Given the description of an element on the screen output the (x, y) to click on. 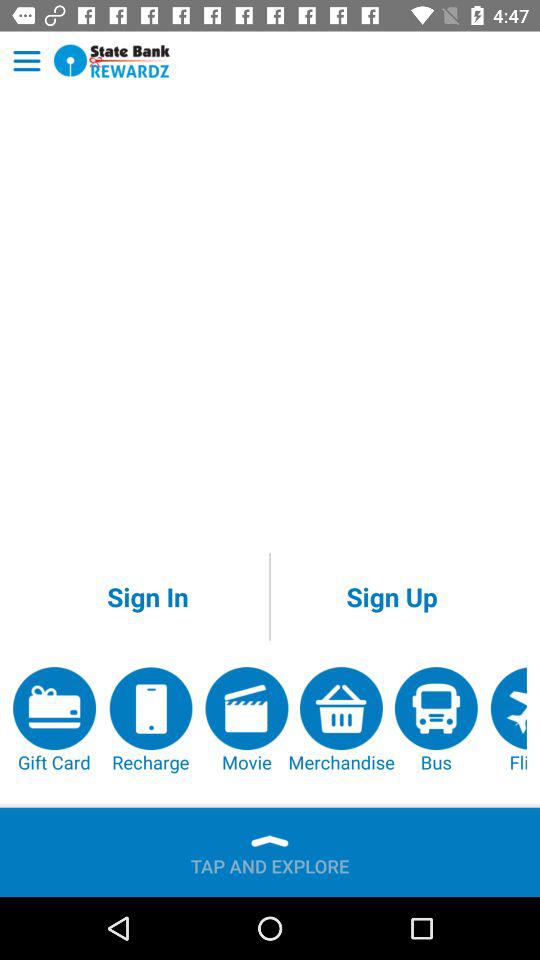
click the icon above tap and explore button (246, 720)
